Given the description of an element on the screen output the (x, y) to click on. 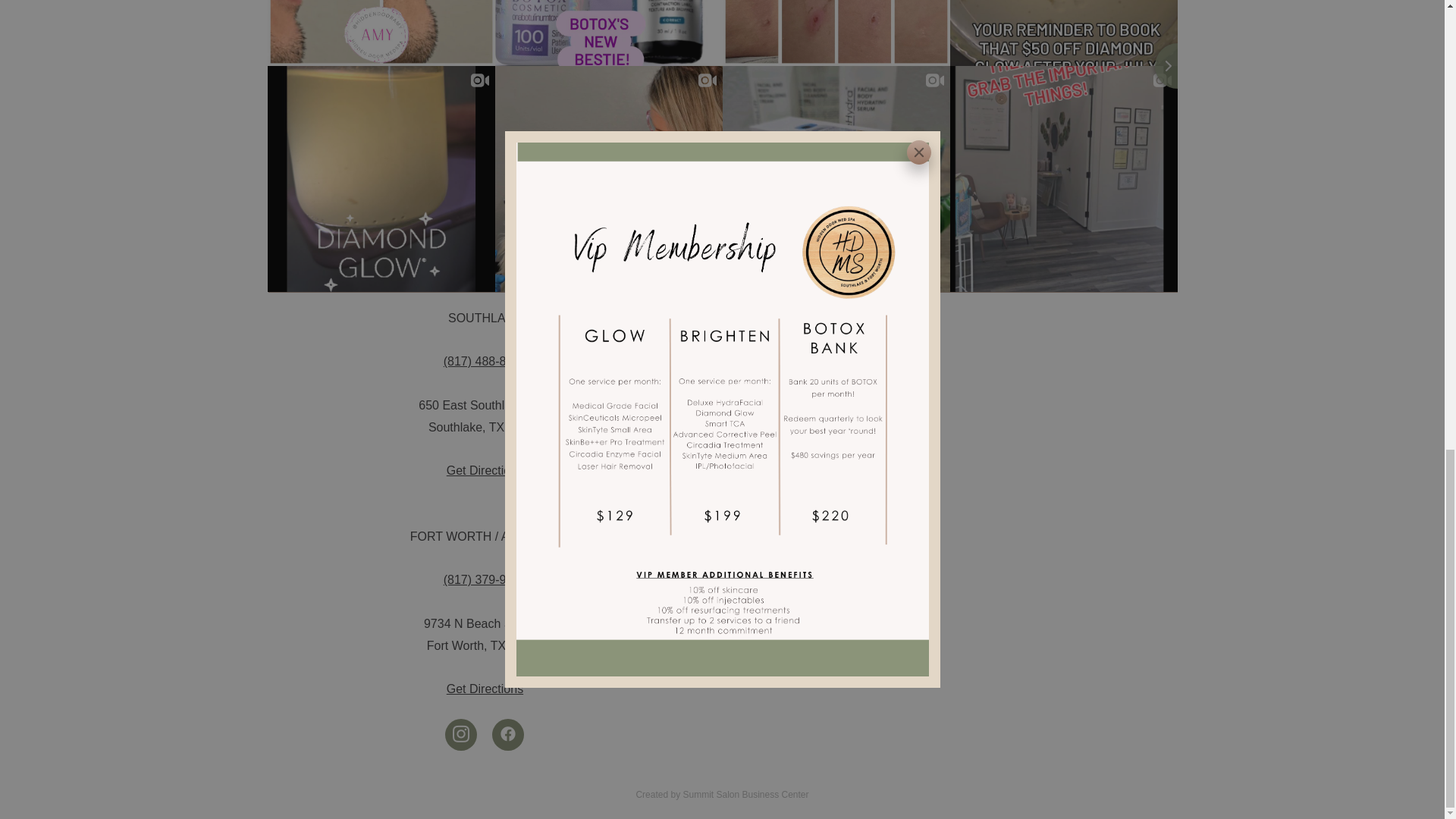
Get Directions (484, 470)
Get Directions (484, 688)
